Given the description of an element on the screen output the (x, y) to click on. 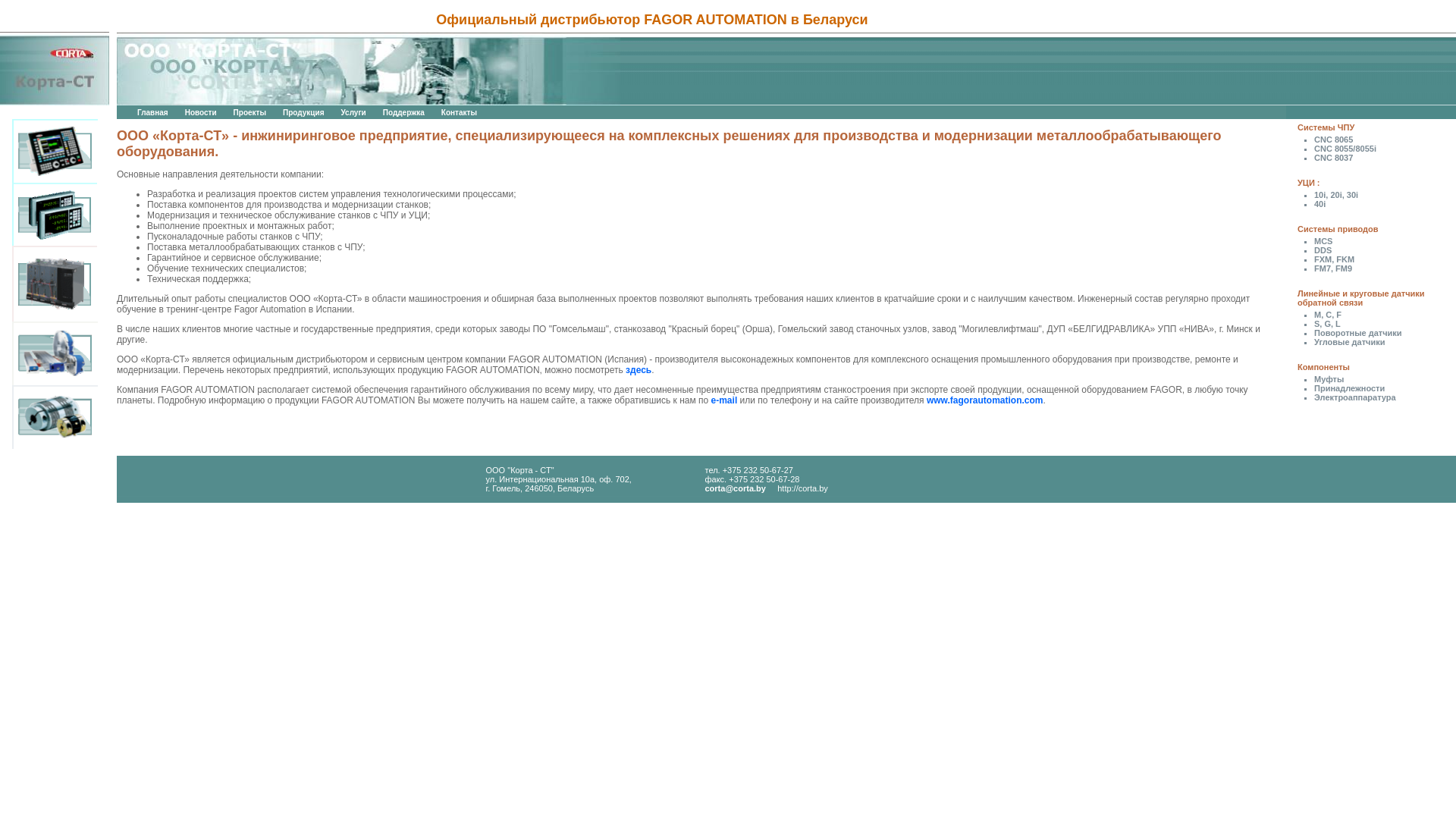
MCS Element type: text (1323, 240)
S, G, L Element type: text (1327, 323)
CNC 8065 Element type: text (1333, 139)
40i Element type: text (1319, 203)
FXM, FKM Element type: text (1334, 258)
e-mail Element type: text (724, 400)
M, C, F Element type: text (1327, 314)
corta@corta.by Element type: text (735, 487)
DDS Element type: text (1322, 249)
10i, 20i, 30i Element type: text (1336, 194)
FM7, FM9 Element type: text (1333, 268)
www.fagorautomation.com Element type: text (984, 400)
CNC 8037 Element type: text (1333, 157)
http://corta.by Element type: text (802, 487)
CNC 8055/8055i Element type: text (1345, 148)
